Given the description of an element on the screen output the (x, y) to click on. 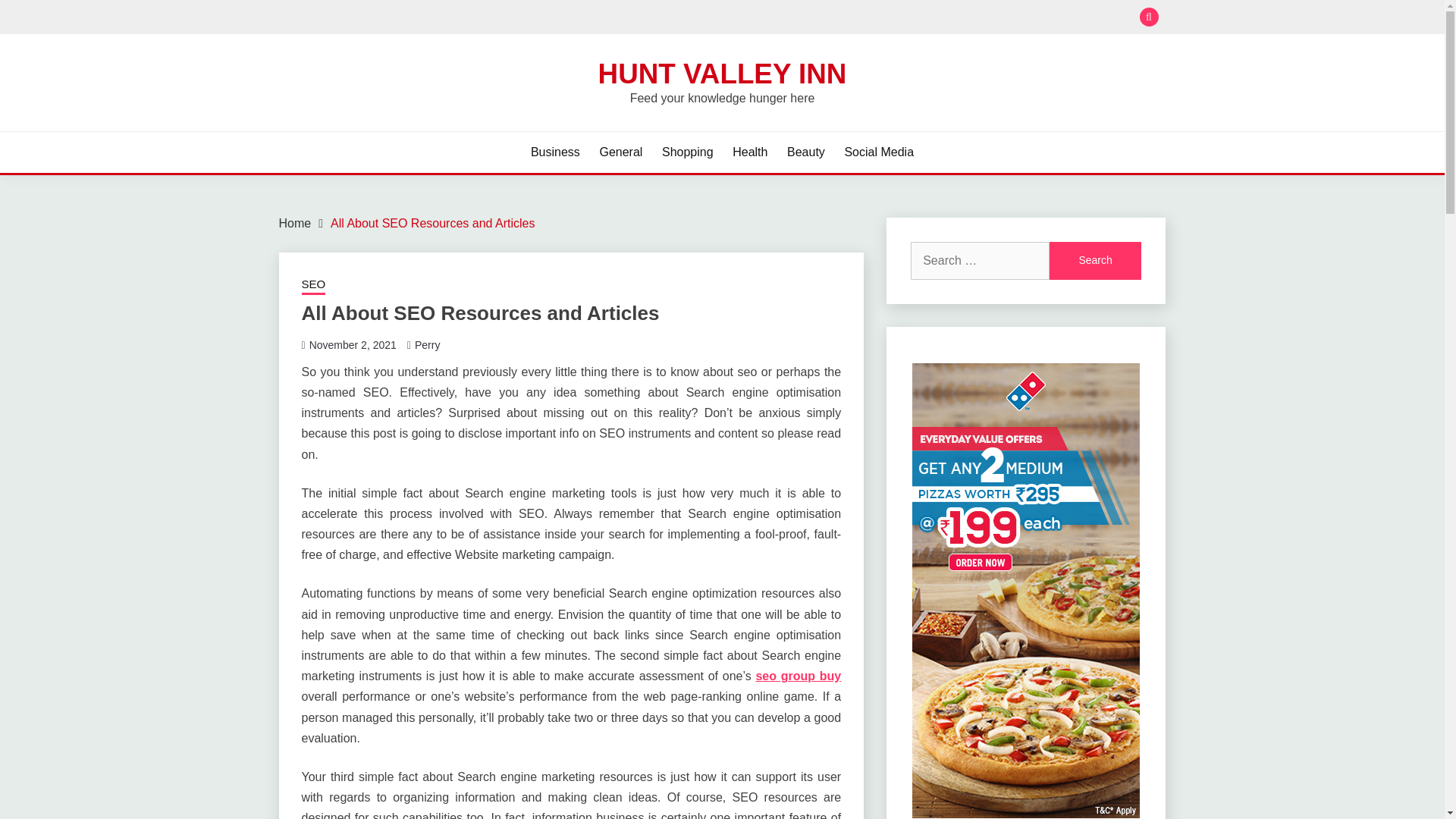
Health (749, 152)
All About SEO Resources and Articles (432, 223)
Search (1095, 260)
Perry (426, 345)
Business (555, 152)
Home (295, 223)
November 2, 2021 (352, 345)
Search (1095, 260)
seo group buy (798, 675)
Search (832, 18)
